Given the description of an element on the screen output the (x, y) to click on. 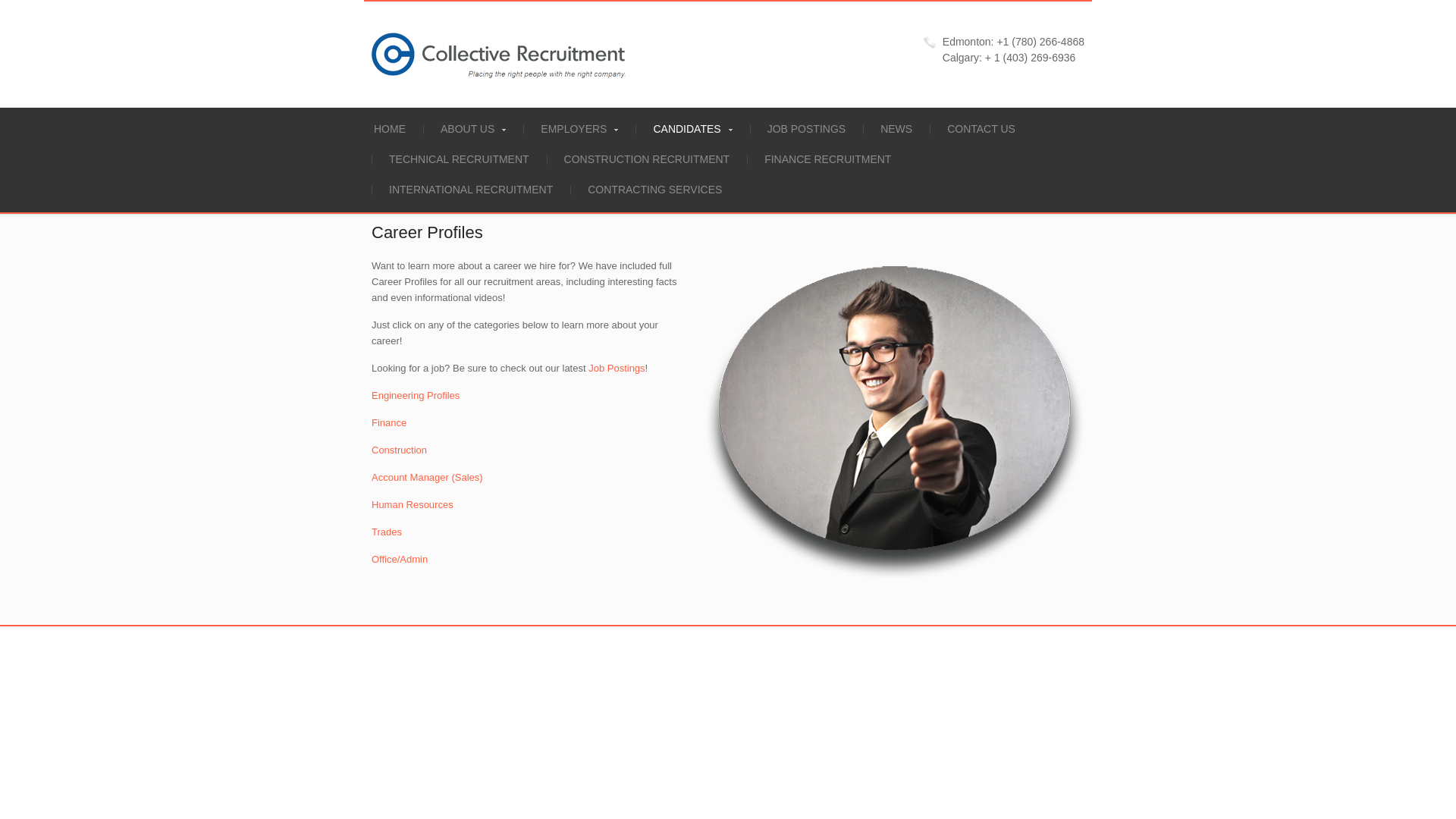
Job Postings (616, 367)
ABOUT US (473, 128)
Account Manager (427, 477)
Trades (386, 531)
CANDIDATES (692, 128)
HOME (390, 128)
EMPLOYERS (578, 128)
Engineering Profiles (415, 395)
Human Resources (411, 504)
Construction (398, 449)
